Given the description of an element on the screen output the (x, y) to click on. 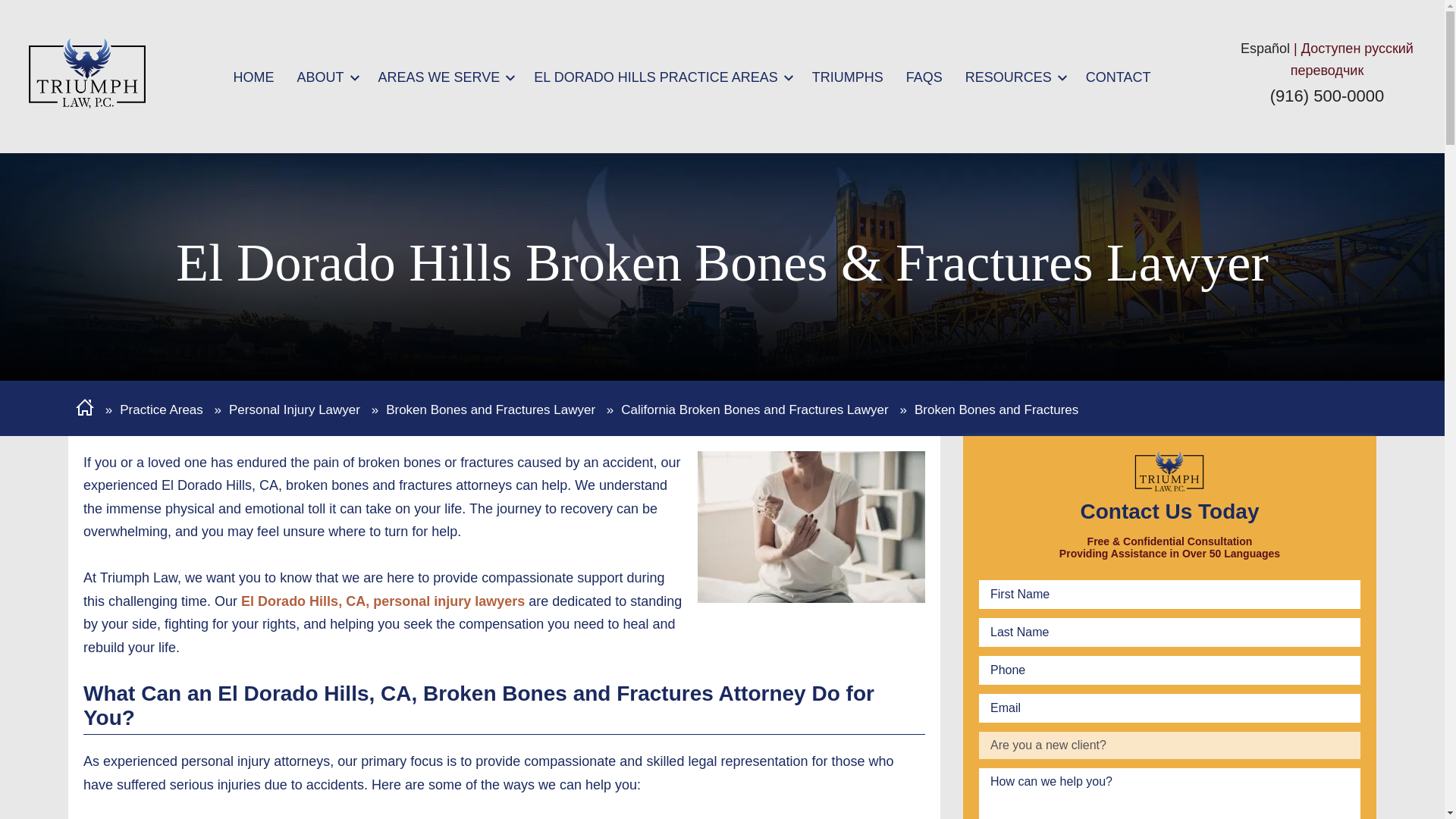
ABOUT (320, 80)
Triumph Law, P.C. (87, 73)
HOME (253, 80)
AREAS WE SERVE (439, 80)
EL DORADO HILLS PRACTICE AREAS (655, 80)
Call to Triumph Law, P.C (1326, 94)
